Given the description of an element on the screen output the (x, y) to click on. 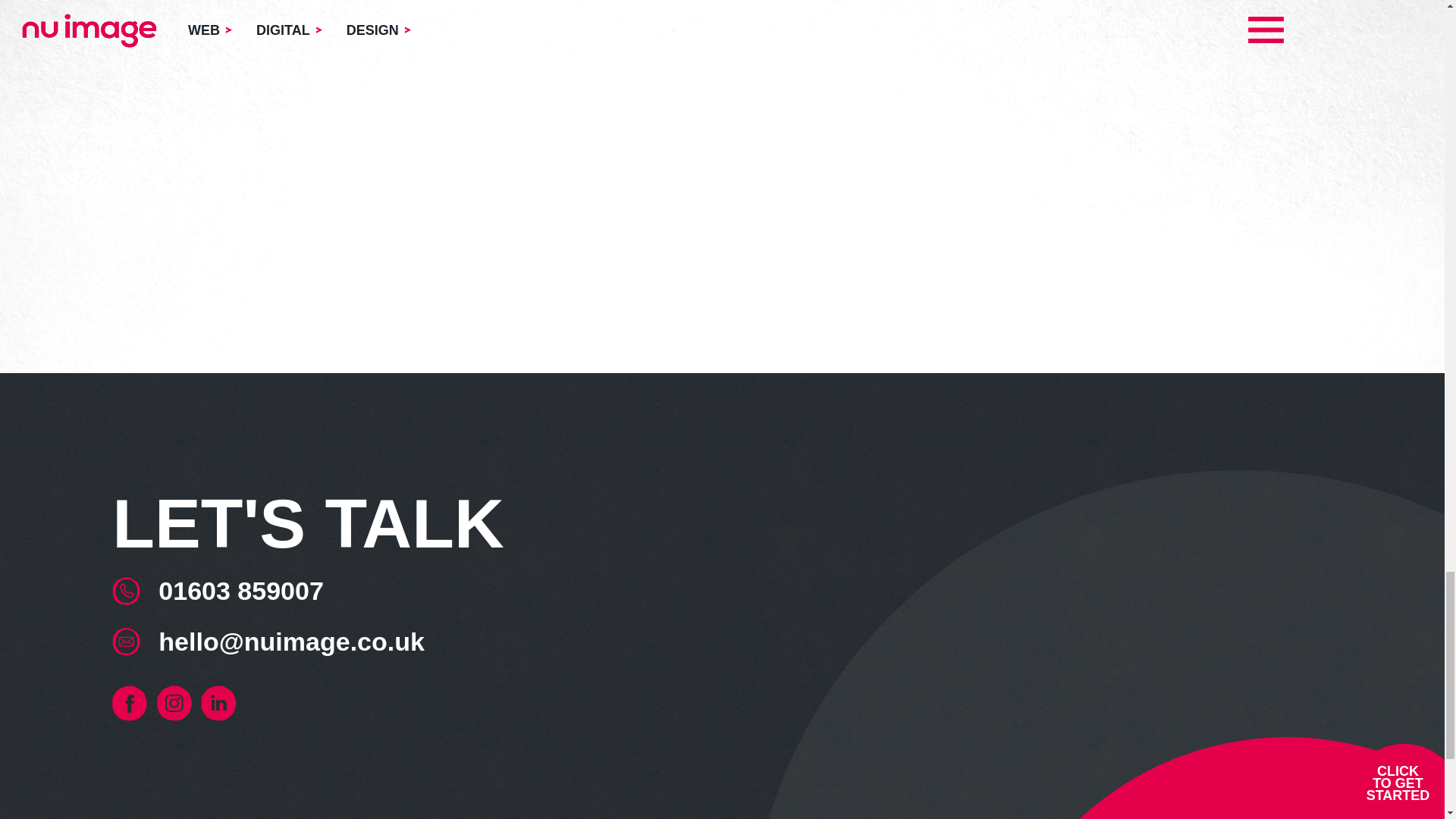
01603 859007 (240, 590)
